Given the description of an element on the screen output the (x, y) to click on. 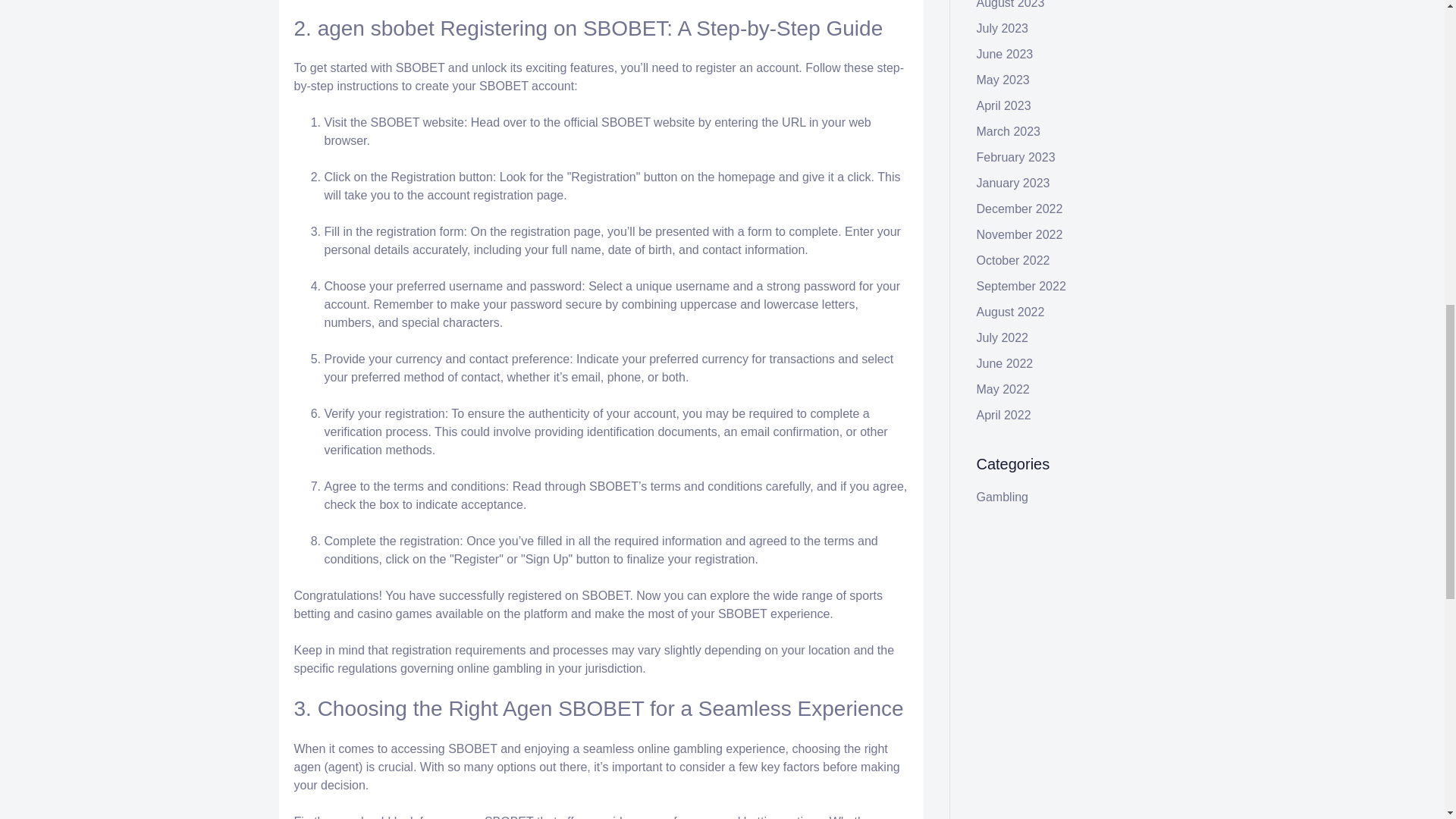
July 2022 (1002, 337)
May 2023 (1002, 79)
February 2023 (1015, 156)
agen sbobet (375, 28)
September 2022 (1020, 286)
November 2022 (1019, 234)
December 2022 (1019, 208)
August 2022 (1010, 311)
June 2023 (1004, 53)
January 2023 (1012, 182)
October 2022 (1012, 259)
August 2023 (1010, 4)
April 2023 (1003, 105)
March 2023 (1008, 131)
July 2023 (1002, 28)
